Given the description of an element on the screen output the (x, y) to click on. 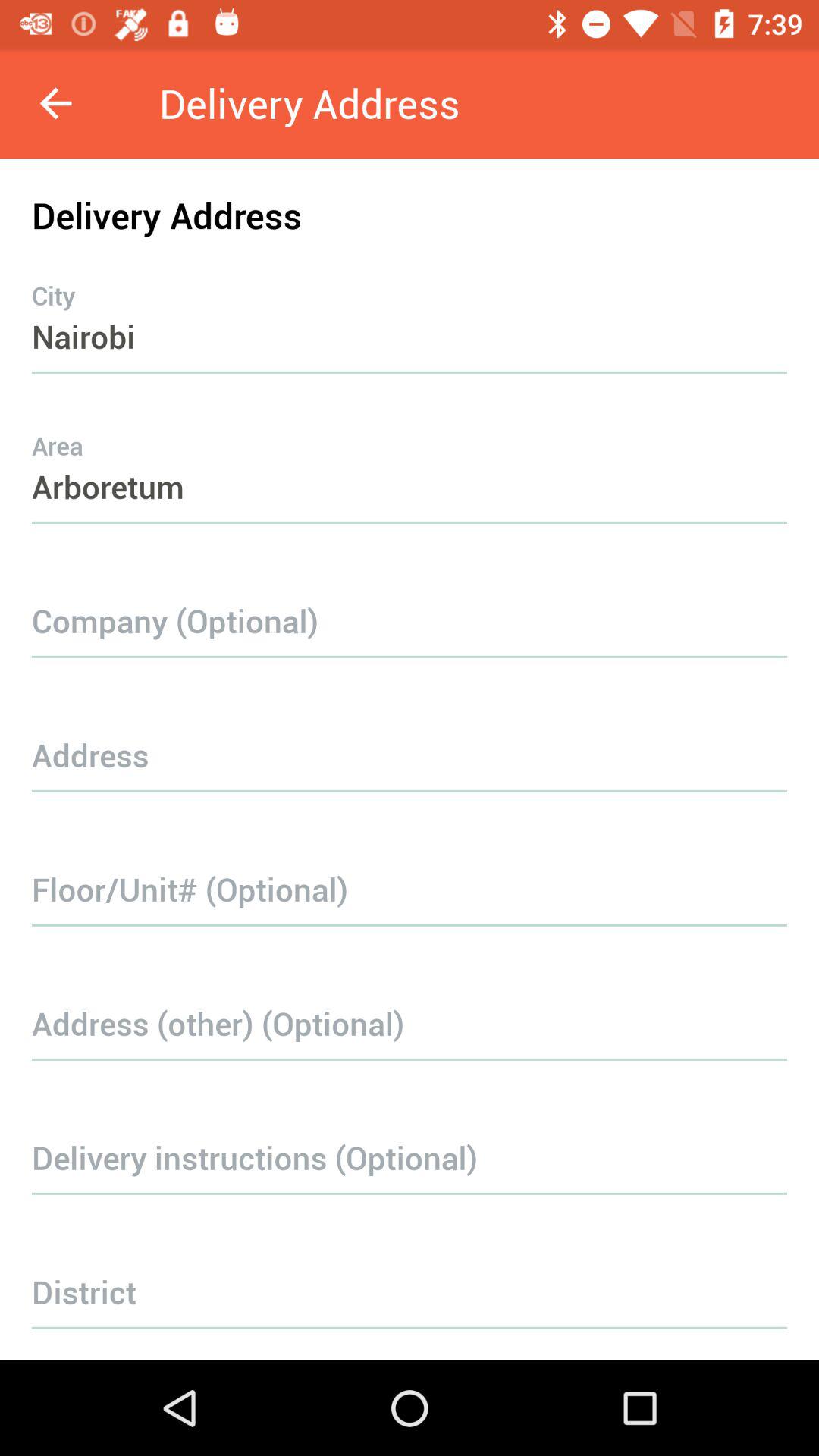
swipe to the arboretum (409, 456)
